Given the description of an element on the screen output the (x, y) to click on. 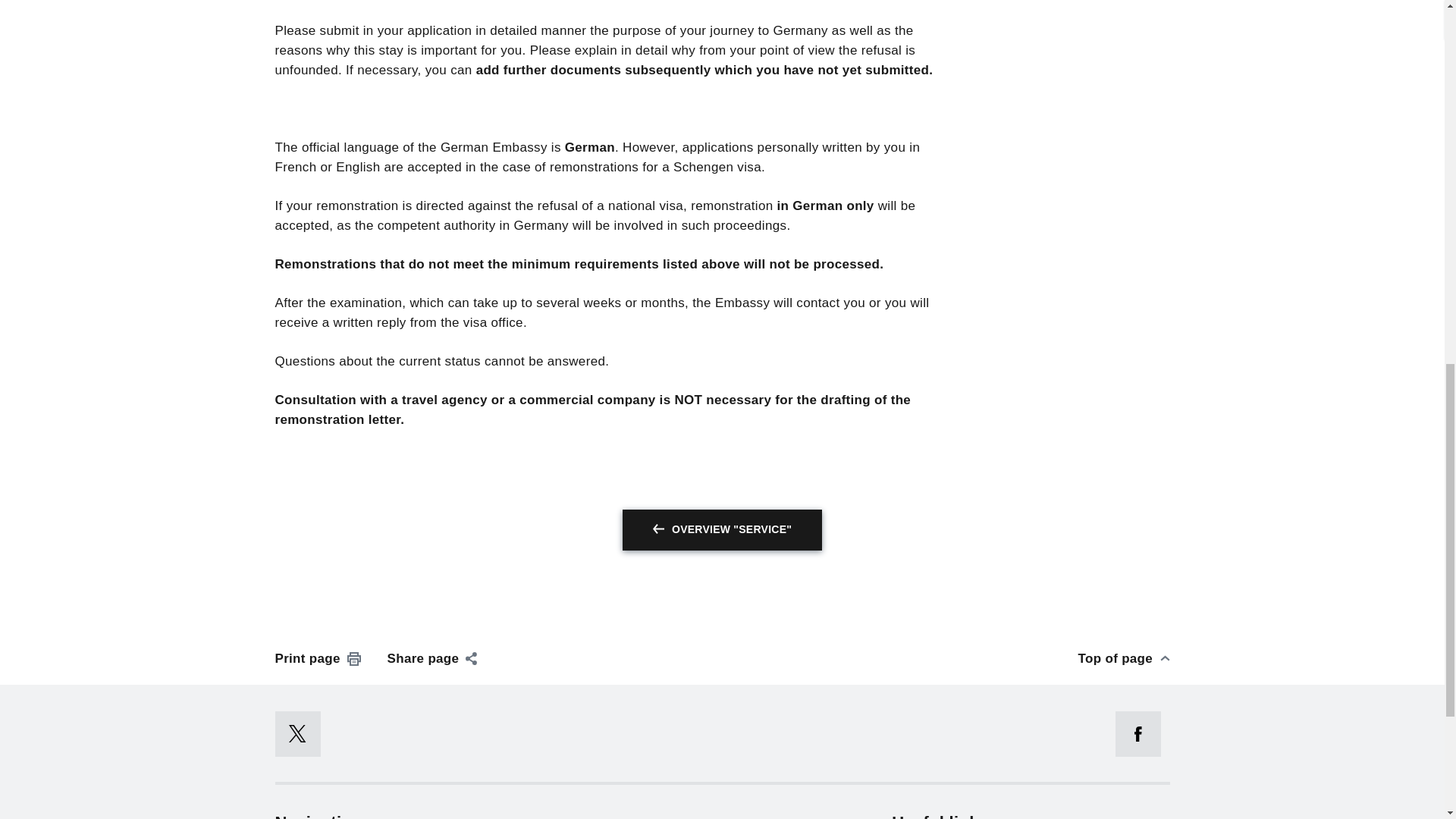
Overview Service (722, 529)
Print page (318, 659)
OVERVIEW "SERVICE" (722, 529)
Top of page (1124, 659)
